Given the description of an element on the screen output the (x, y) to click on. 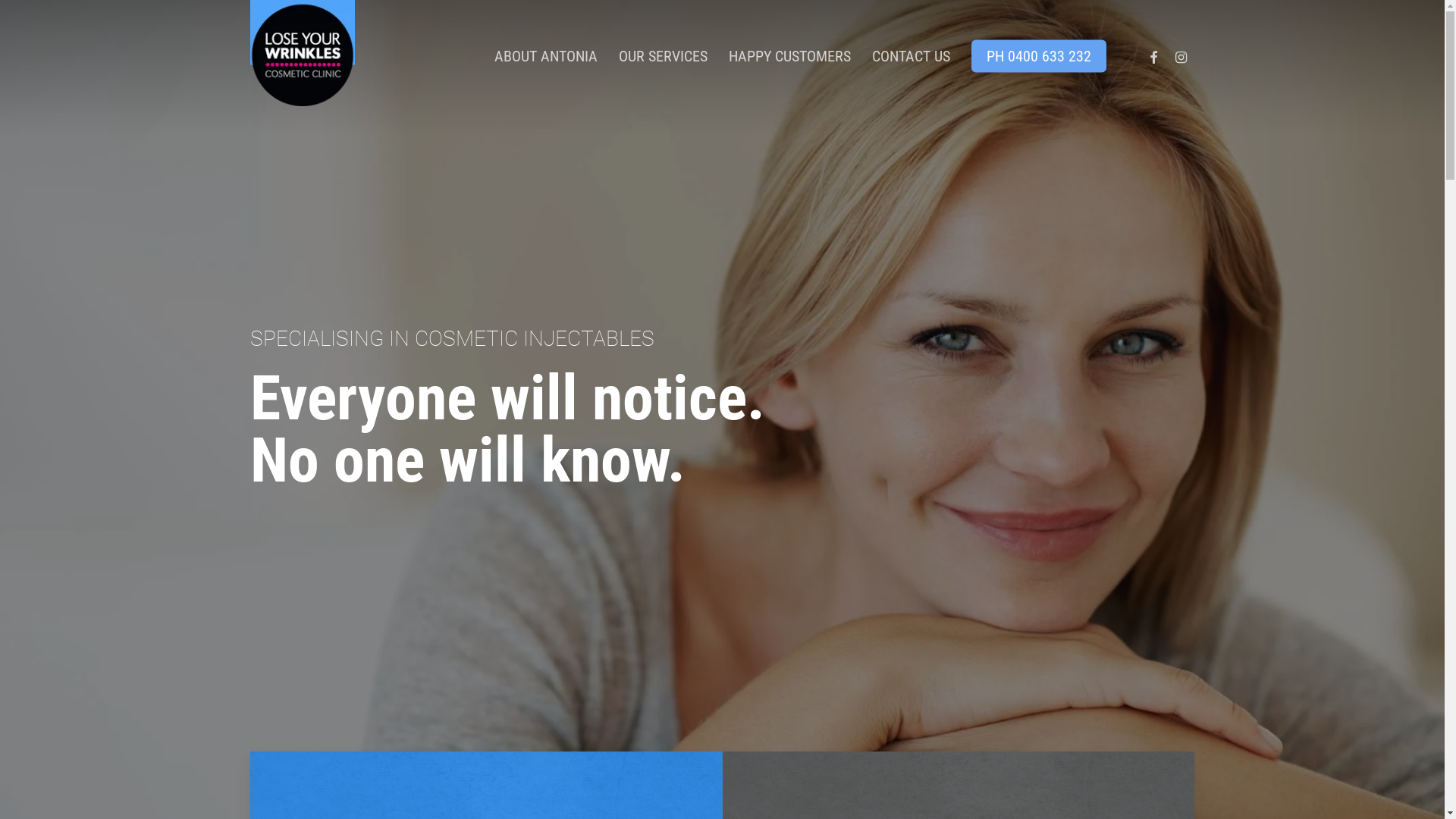
FACEBOOK Element type: text (1153, 56)
OUR SERVICES Element type: text (662, 56)
CONTACT US Element type: text (911, 56)
HAPPY CUSTOMERS Element type: text (789, 56)
PH 0400 633 232 Element type: text (1038, 56)
ABOUT ANTONIA Element type: text (545, 56)
INSTAGRAM Element type: text (1180, 56)
